Given the description of an element on the screen output the (x, y) to click on. 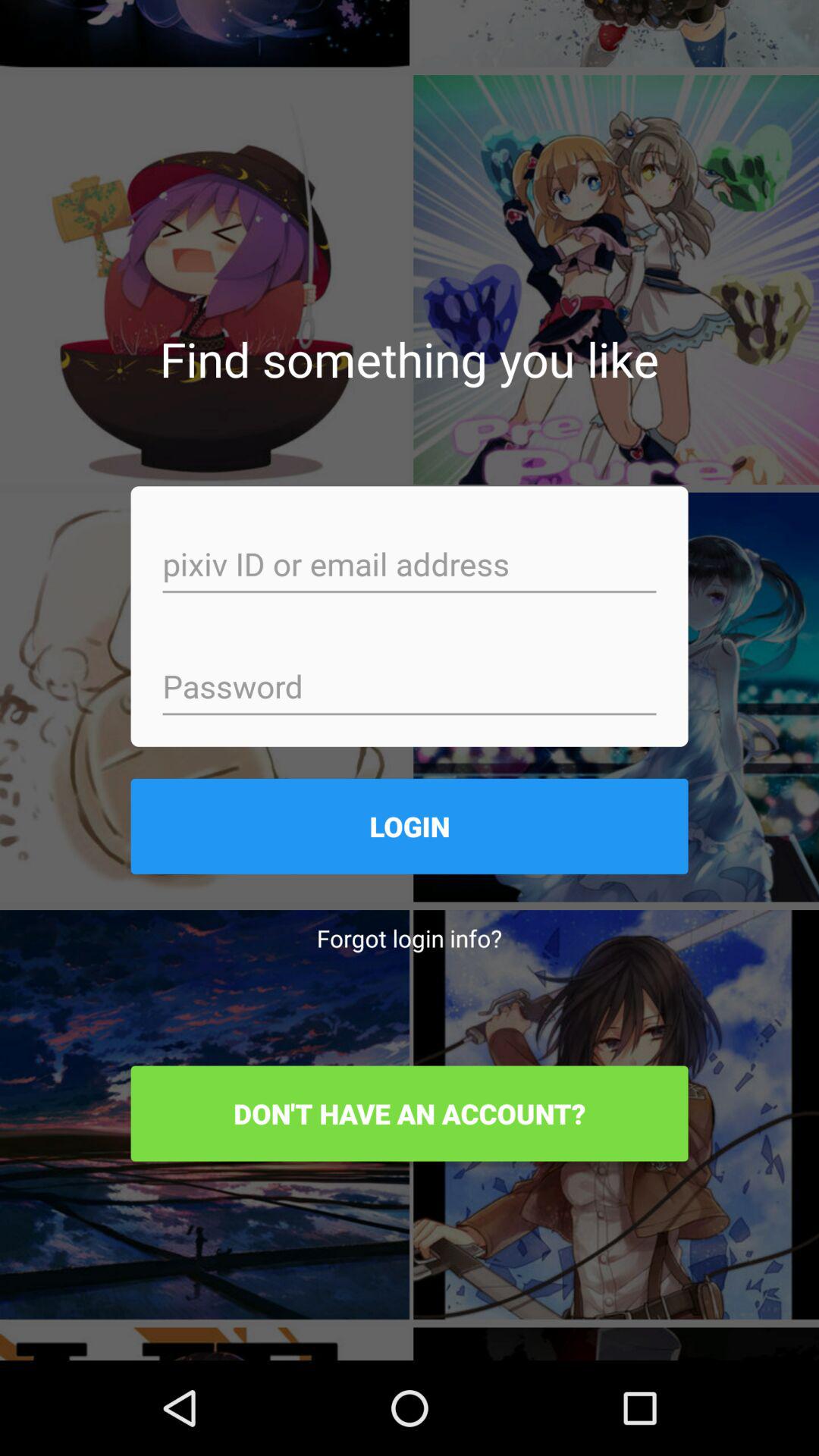
tap the forgot login info? icon (409, 938)
